Given the description of an element on the screen output the (x, y) to click on. 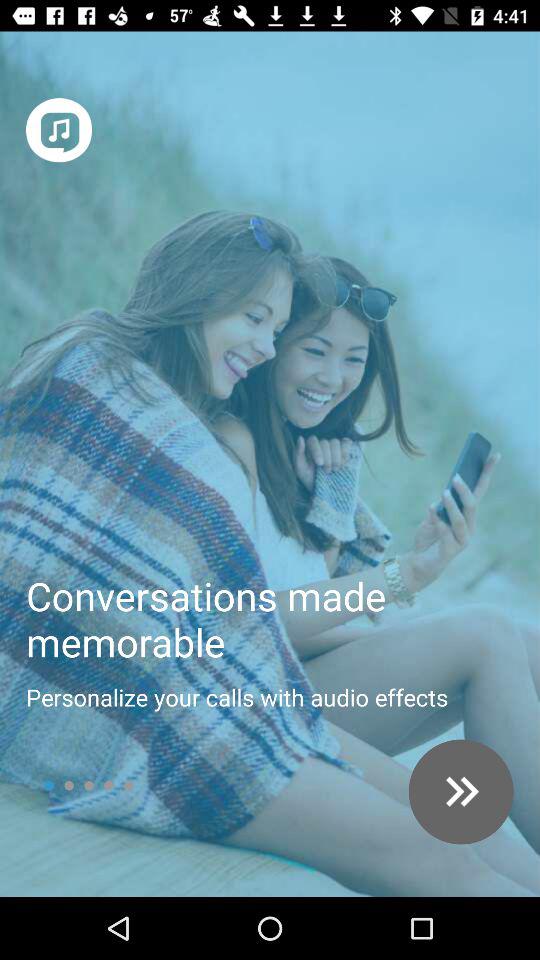
go next (460, 791)
